Given the description of an element on the screen output the (x, y) to click on. 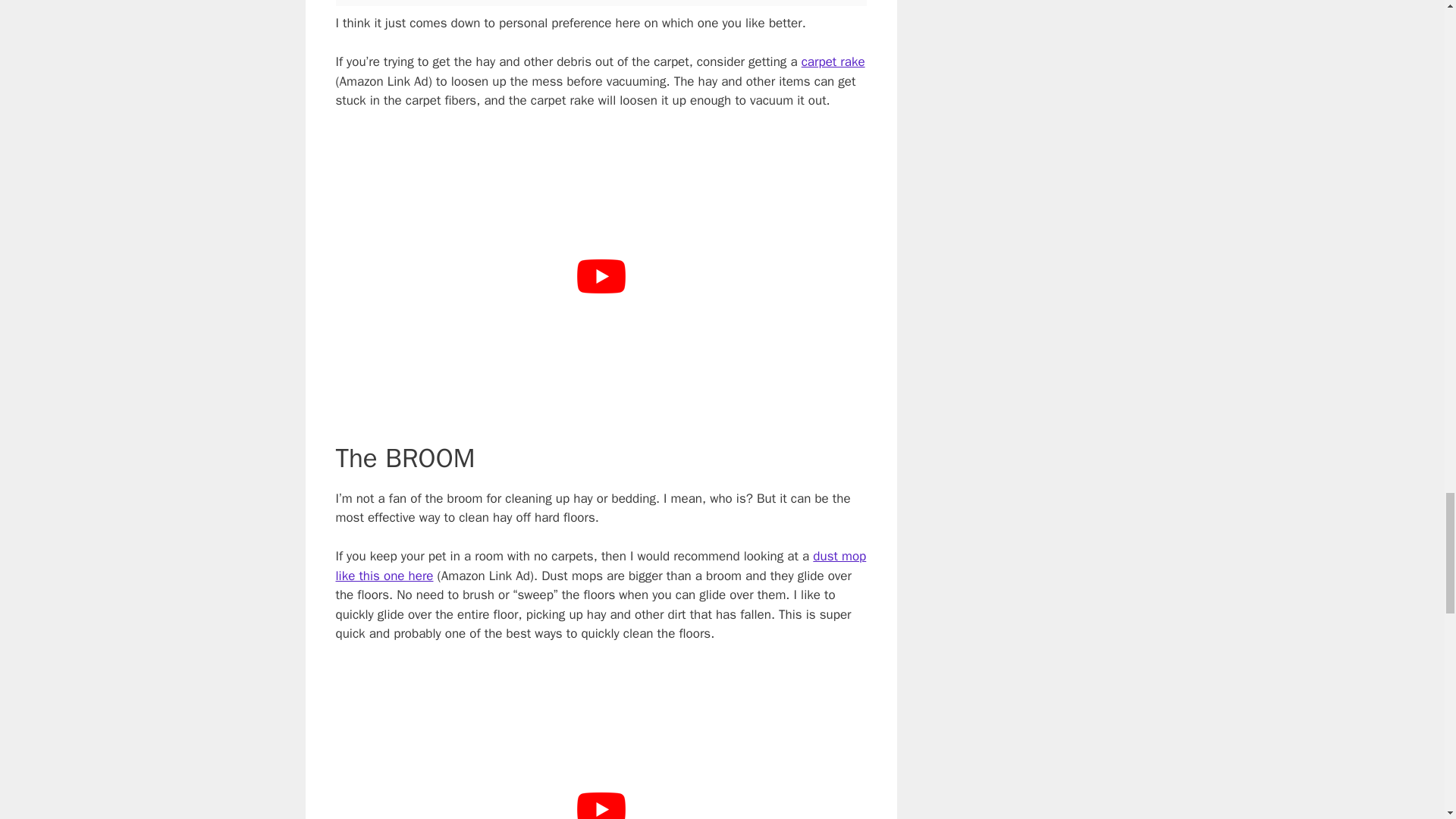
dust mop like this one here (600, 565)
carpet rake (833, 61)
